Given the description of an element on the screen output the (x, y) to click on. 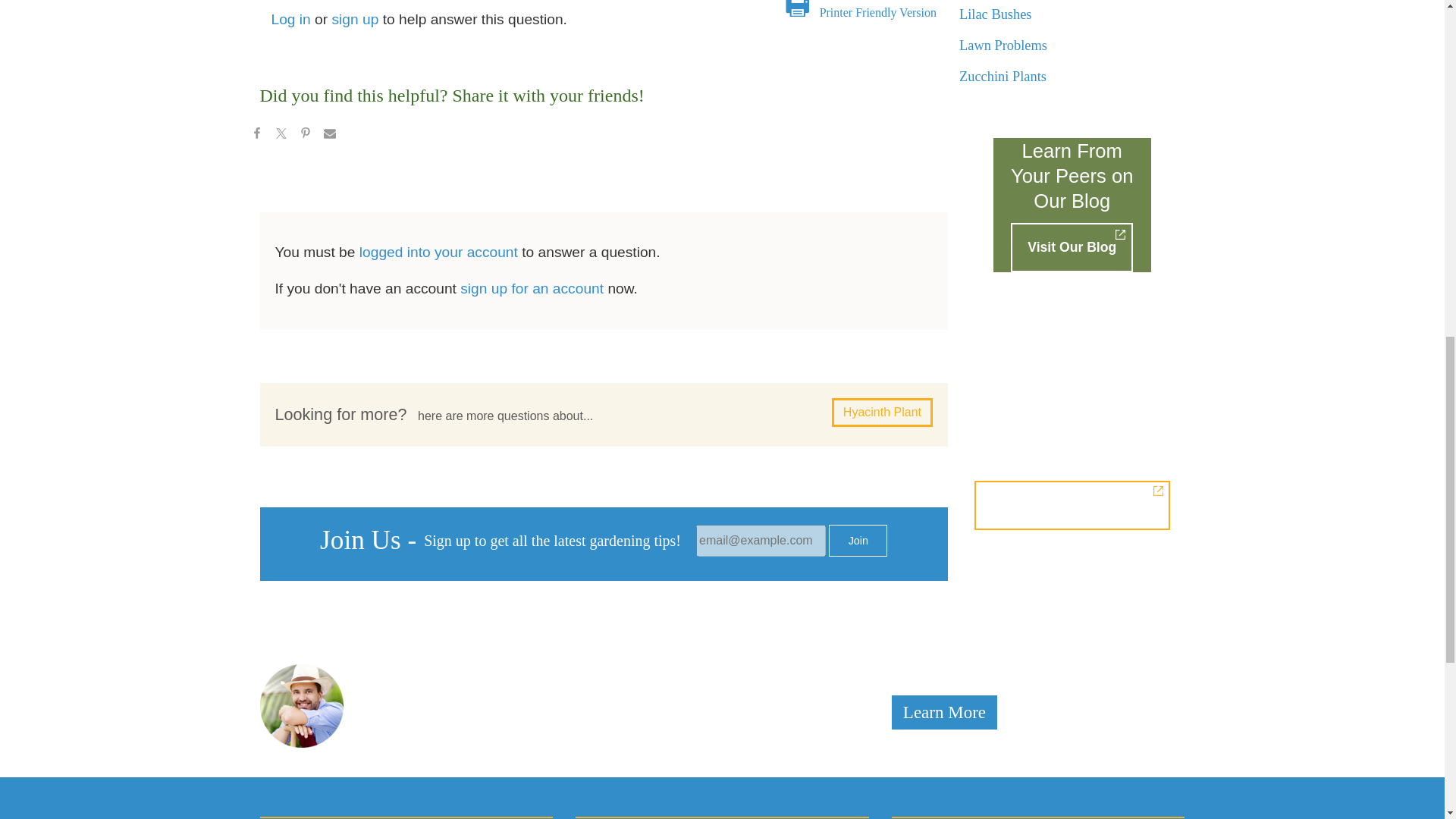
Share via Email (328, 135)
Printer Friendly Version (877, 11)
Printer Friendly Version (877, 11)
Share on Twitter (279, 135)
logged into your account (438, 252)
sign up (354, 19)
sign up for an account (532, 288)
Hyacinth Plant (882, 412)
Share on Pinterest (304, 135)
Join (857, 540)
Log in (290, 19)
Share on Facebook (255, 135)
